Given the description of an element on the screen output the (x, y) to click on. 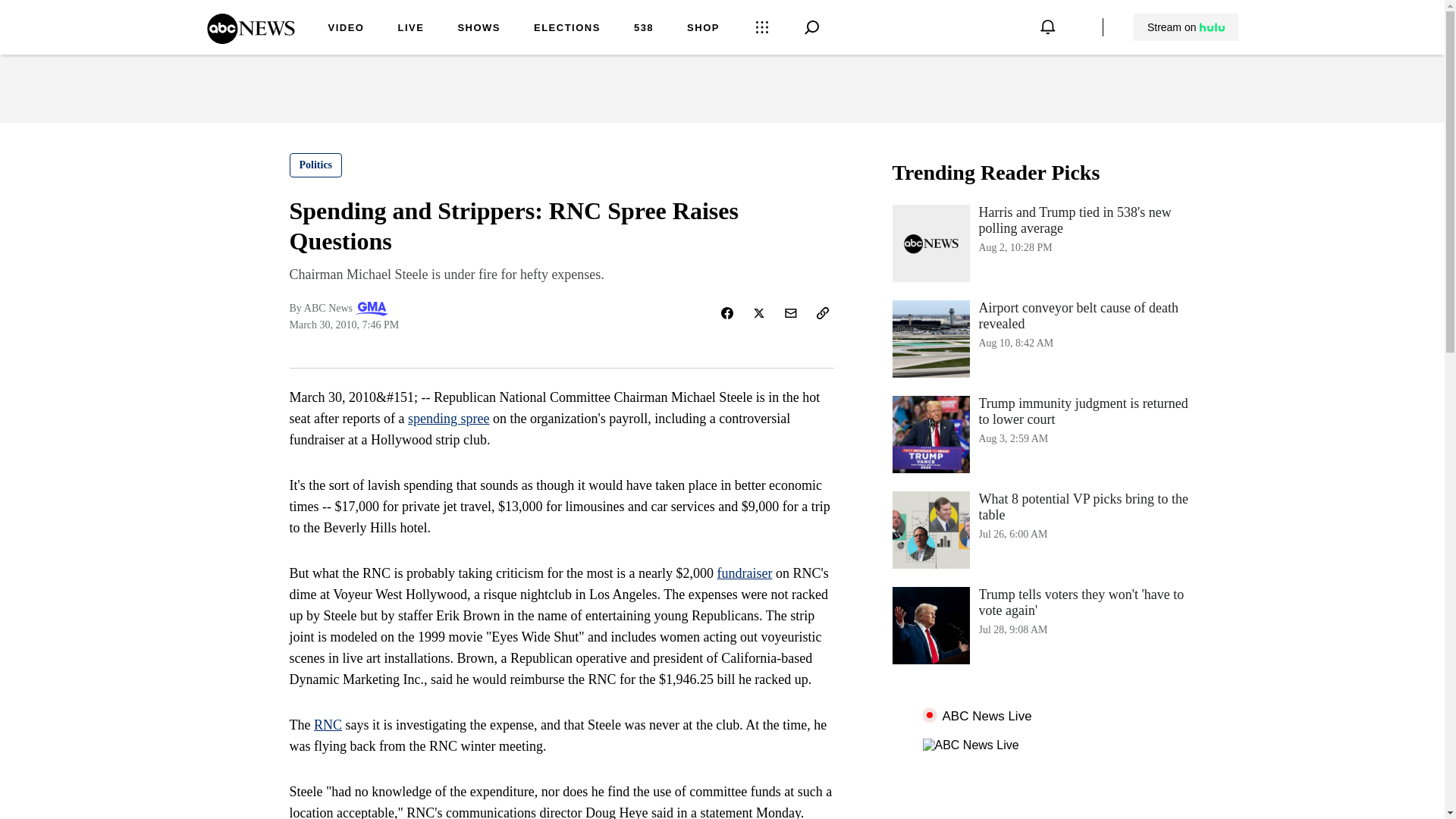
RNC (328, 724)
538 (643, 28)
ABC News (250, 38)
SHOWS (478, 28)
Politics (315, 165)
Stream on (1185, 27)
SHOP (703, 28)
ELECTIONS (566, 28)
